Given the description of an element on the screen output the (x, y) to click on. 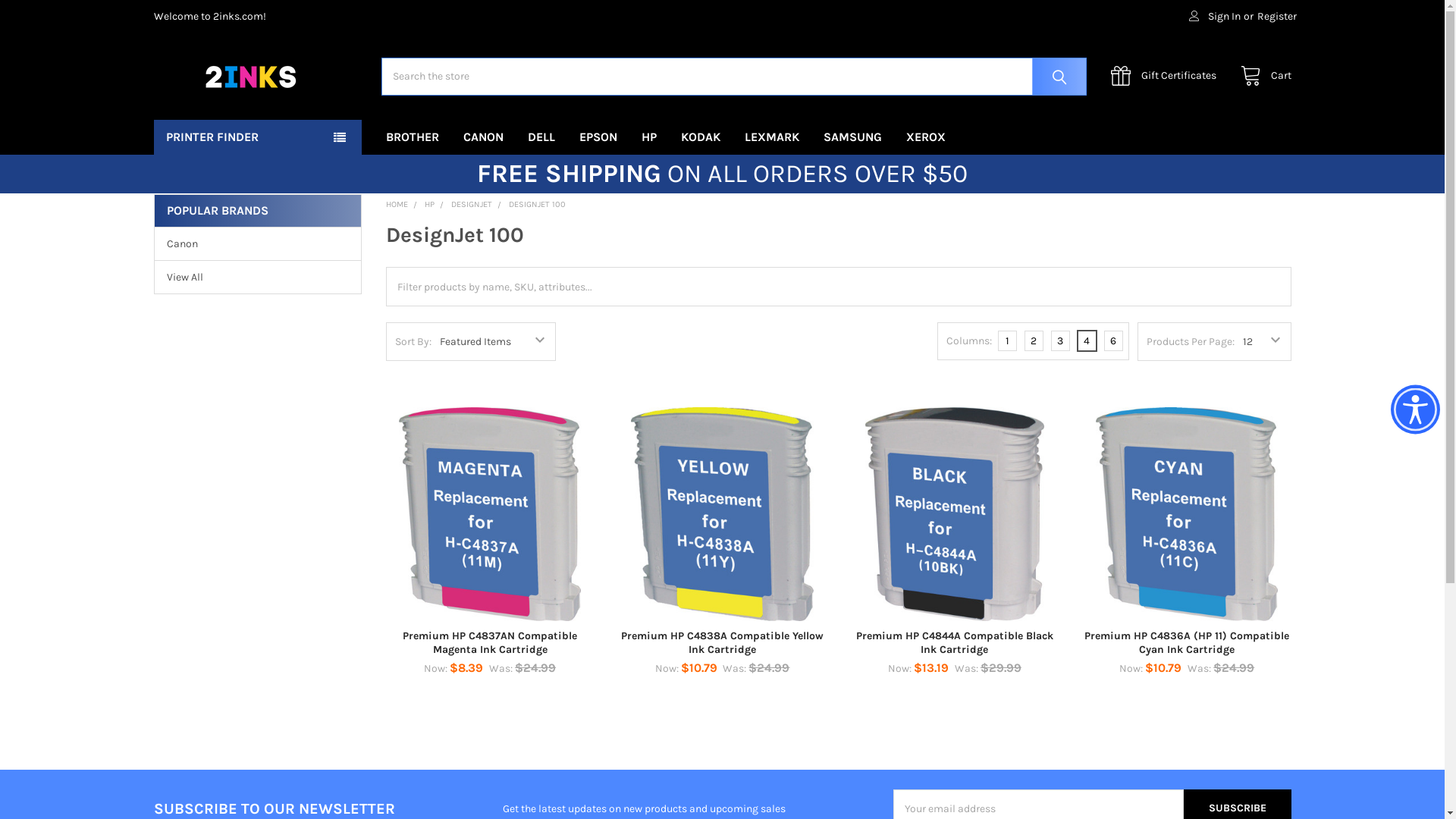
EPSON Element type: text (598, 136)
HOME Element type: text (396, 204)
Premium HP C4838A Compatible Yellow Ink Cartridge Element type: text (722, 642)
Premium HP C4844A Compatible Black Ink Cartridge Element type: hover (954, 514)
SAMSUNG Element type: text (852, 136)
HP Element type: text (429, 204)
View All Element type: text (257, 277)
HP Element type: text (648, 136)
Premium HP C4844A Compatible Black Ink Cartridge Element type: text (954, 642)
Cart Element type: text (1261, 75)
BROTHER Element type: text (412, 136)
Gift Certificates Element type: text (1167, 75)
Sign In Element type: text (1214, 16)
Canon Element type: text (257, 243)
Search Element type: text (1055, 76)
CANON Element type: text (483, 136)
DESIGNJET Element type: text (471, 204)
Premium HP C4837AN Compatible Magenta Ink Cartridge Element type: hover (489, 514)
KODAK Element type: text (700, 136)
Premium HP C4836A (HP 11) Compatible Cyan Ink Cartridge Element type: hover (1186, 514)
Premium HP C4838A Compatible Yellow Ink Cartridge Element type: hover (721, 514)
2inks.com Element type: hover (247, 76)
LEXMARK Element type: text (771, 136)
Register Element type: text (1276, 16)
PRINTER FINDER Element type: text (256, 136)
Premium HP C4837AN Compatible Magenta Ink Cartridge Element type: text (489, 642)
Premium HP C4836A (HP 11) Compatible Cyan Ink Cartridge Element type: text (1186, 642)
XEROX Element type: text (925, 136)
DELL Element type: text (541, 136)
DESIGNJET 100 Element type: text (536, 204)
